Given the description of an element on the screen output the (x, y) to click on. 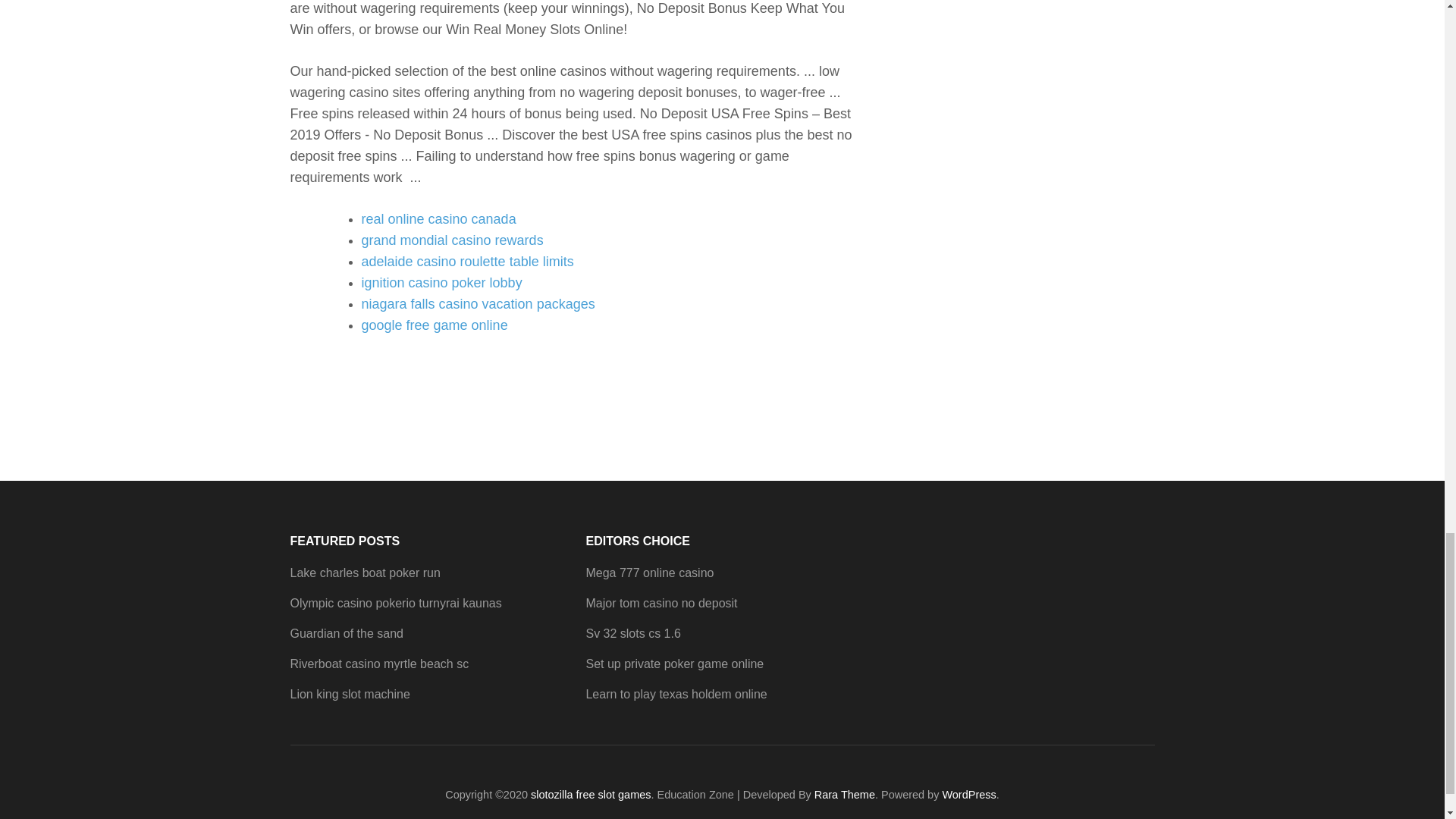
slotozilla free slot games (590, 794)
adelaide casino roulette table limits (467, 261)
grand mondial casino rewards (452, 240)
Major tom casino no deposit (660, 603)
Rara Theme (844, 794)
niagara falls casino vacation packages (477, 304)
Olympic casino pokerio turnyrai kaunas (394, 603)
Lake charles boat poker run (364, 572)
WordPress (968, 794)
Lion king slot machine (349, 694)
Guardian of the sand (346, 633)
Mega 777 online casino (649, 572)
google free game online (433, 324)
real online casino canada (438, 218)
Set up private poker game online (673, 663)
